Given the description of an element on the screen output the (x, y) to click on. 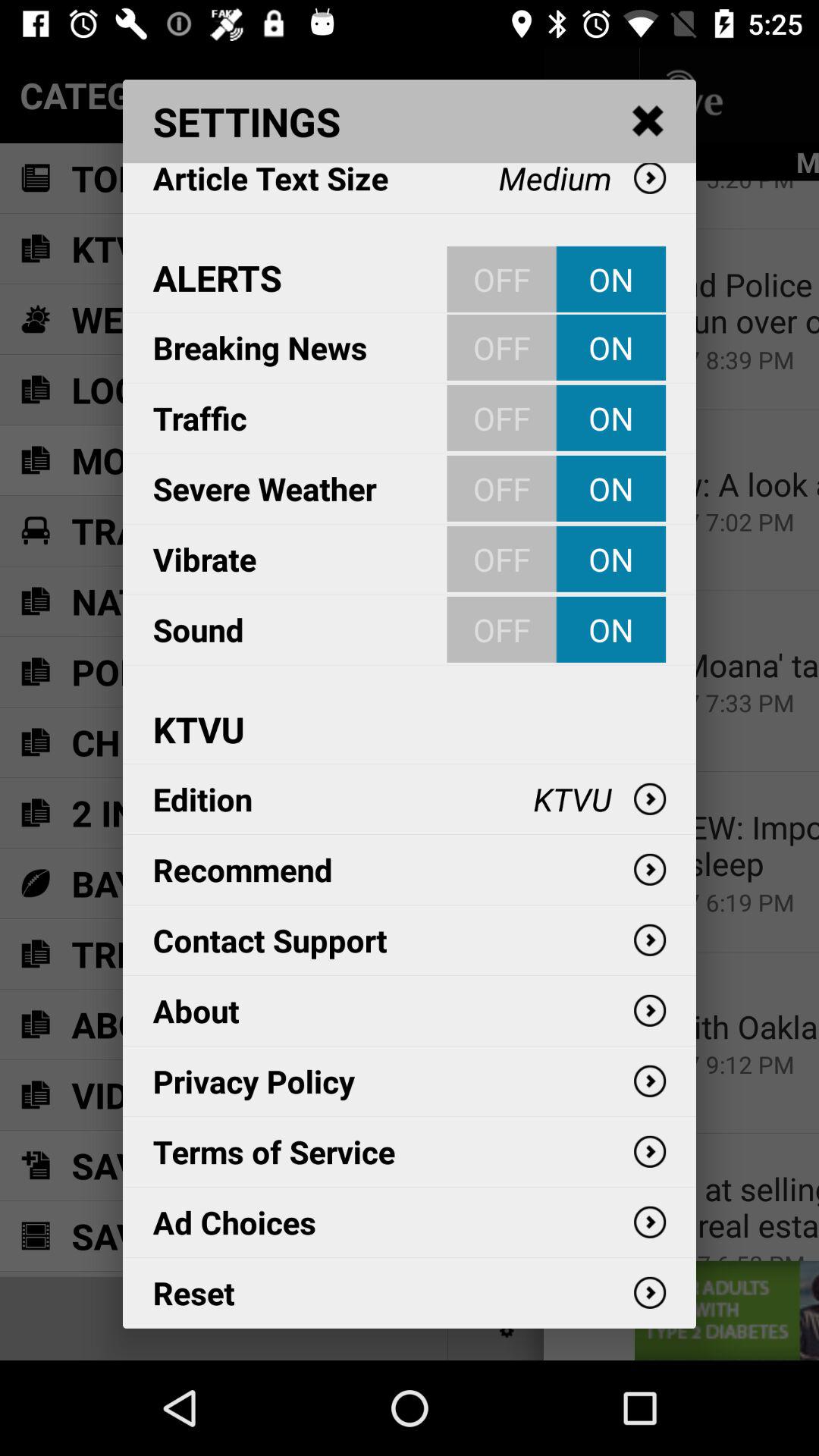
open the icon next to settings (648, 121)
